Given the description of an element on the screen output the (x, y) to click on. 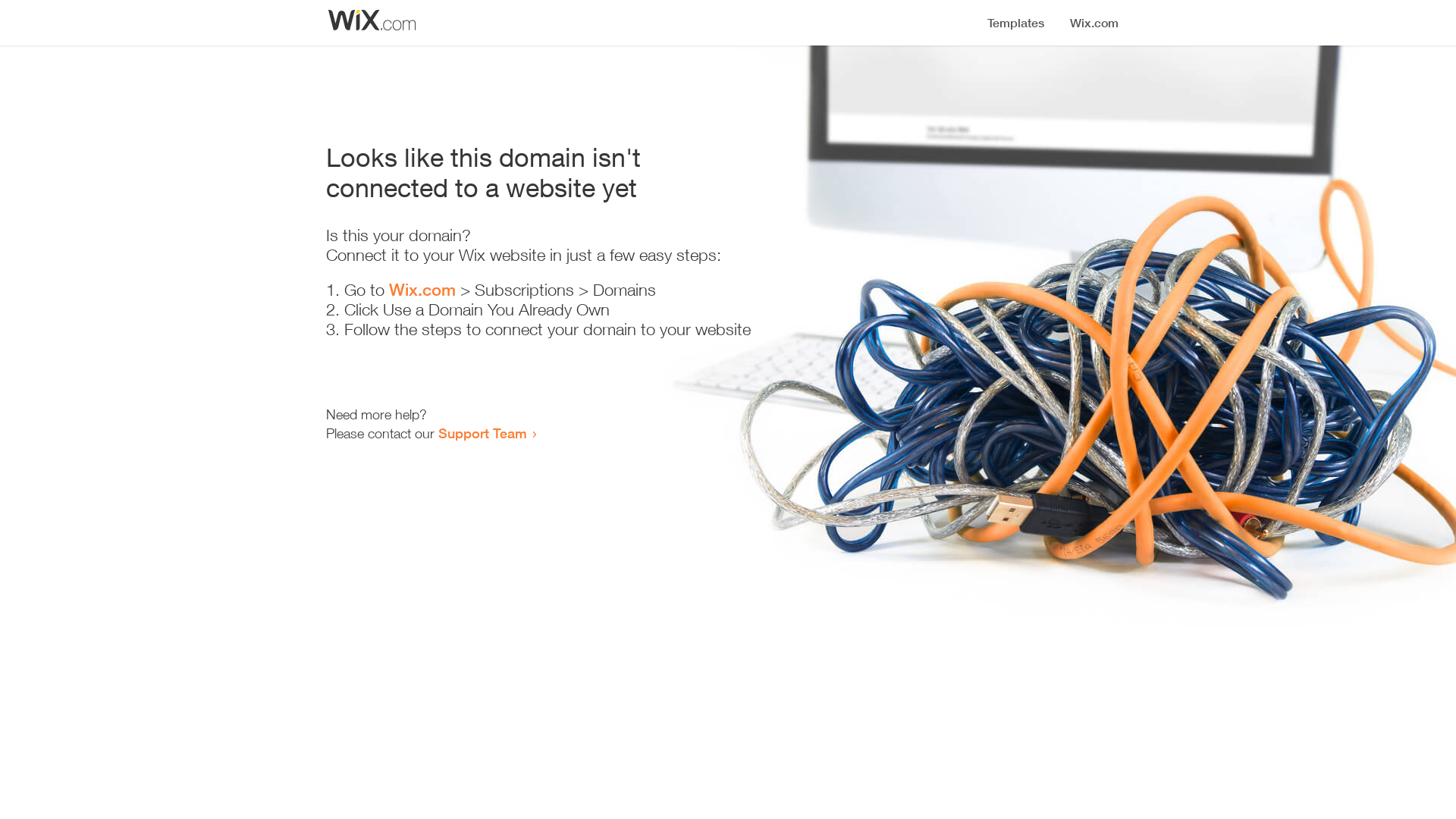
Wix.com Element type: text (422, 289)
Support Team Element type: text (482, 432)
